Given the description of an element on the screen output the (x, y) to click on. 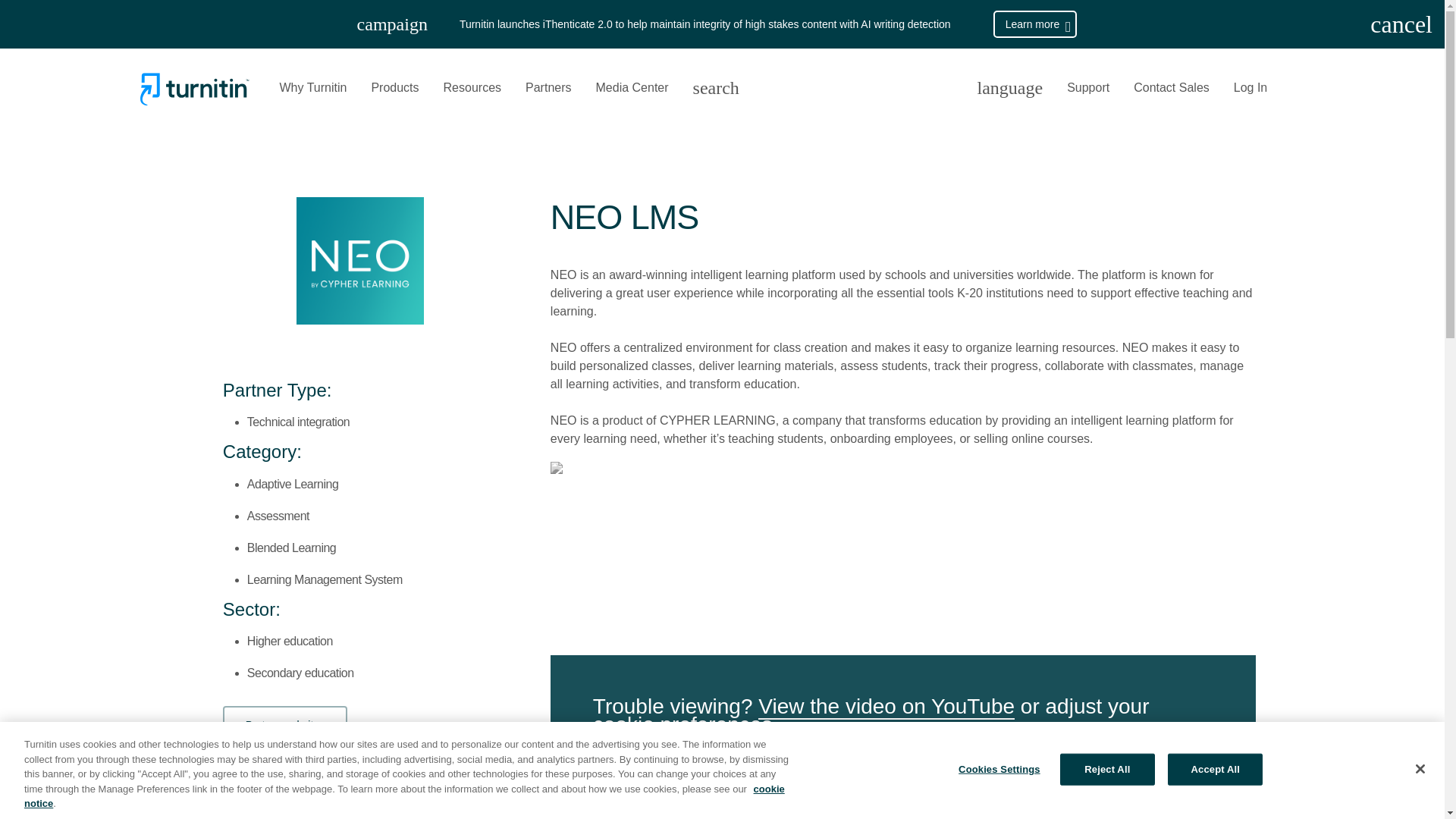
Products (395, 88)
Resources (472, 88)
Why Turnitin (312, 88)
Learn more (1034, 23)
